Given the description of an element on the screen output the (x, y) to click on. 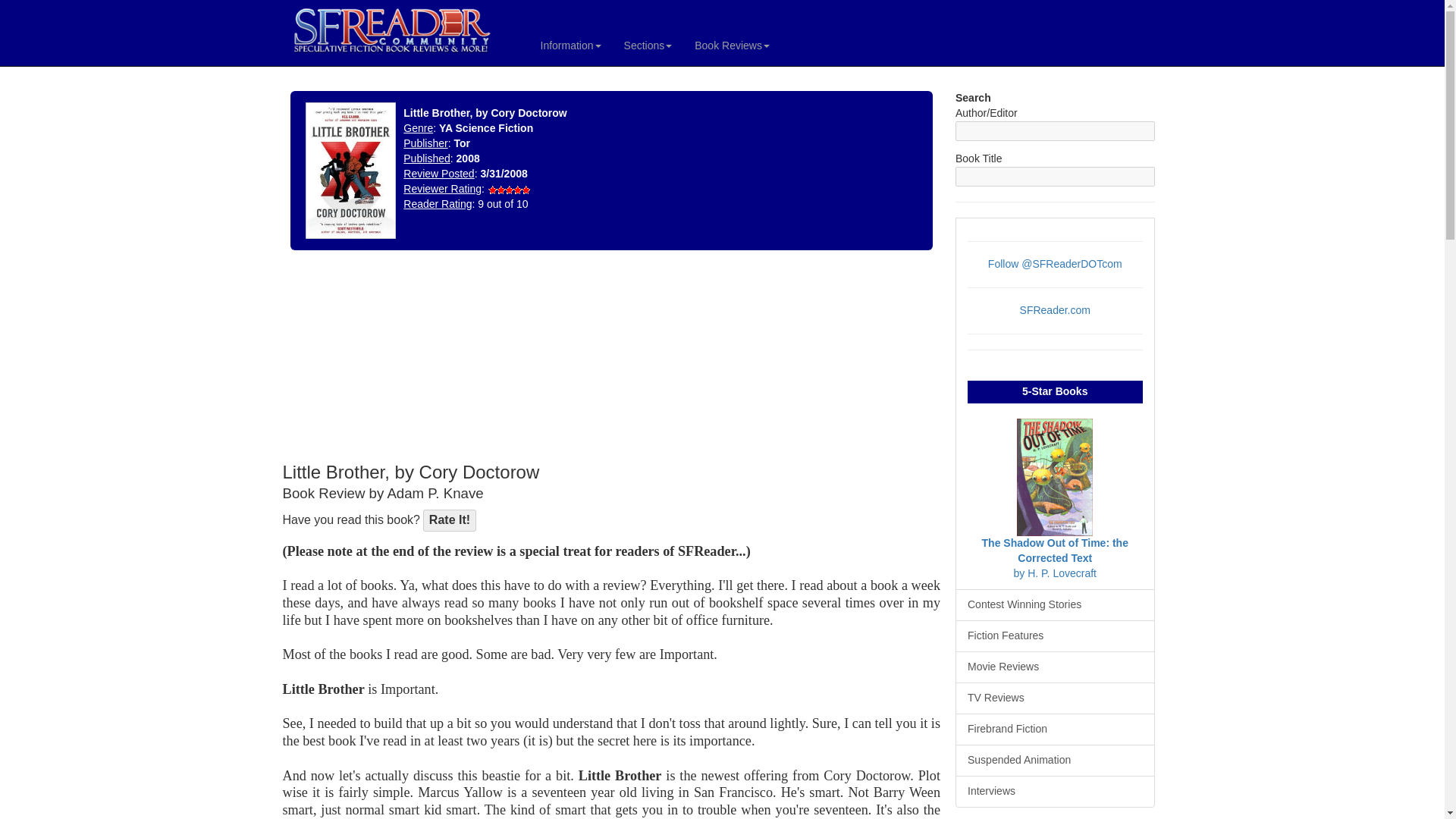
Rate It! (449, 520)
Book Reviews (731, 45)
sfreader movie reviews (1054, 667)
sfreader annual story contest winners (1054, 604)
Suspended Animation comic review archives (1054, 760)
SFReader TV show reviews (1054, 698)
Rate It! (449, 520)
sfreader fiction feature stories (1054, 635)
Advertisement (392, 360)
SFReader author interview archives (1054, 791)
